Given the description of an element on the screen output the (x, y) to click on. 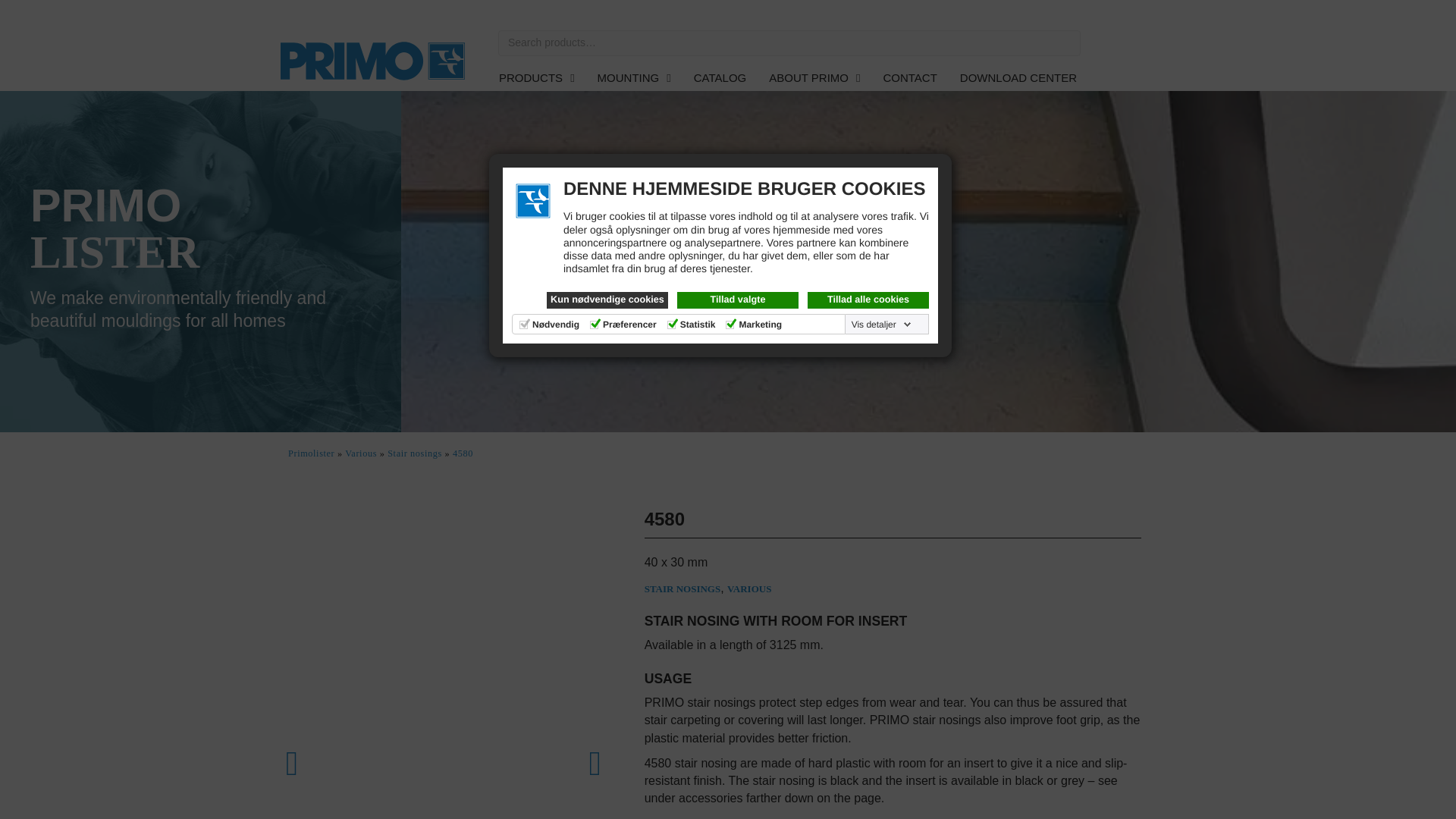
Tillad alle cookies (868, 299)
Tillad valgte (737, 299)
Vis detaljer (881, 324)
